Given the description of an element on the screen output the (x, y) to click on. 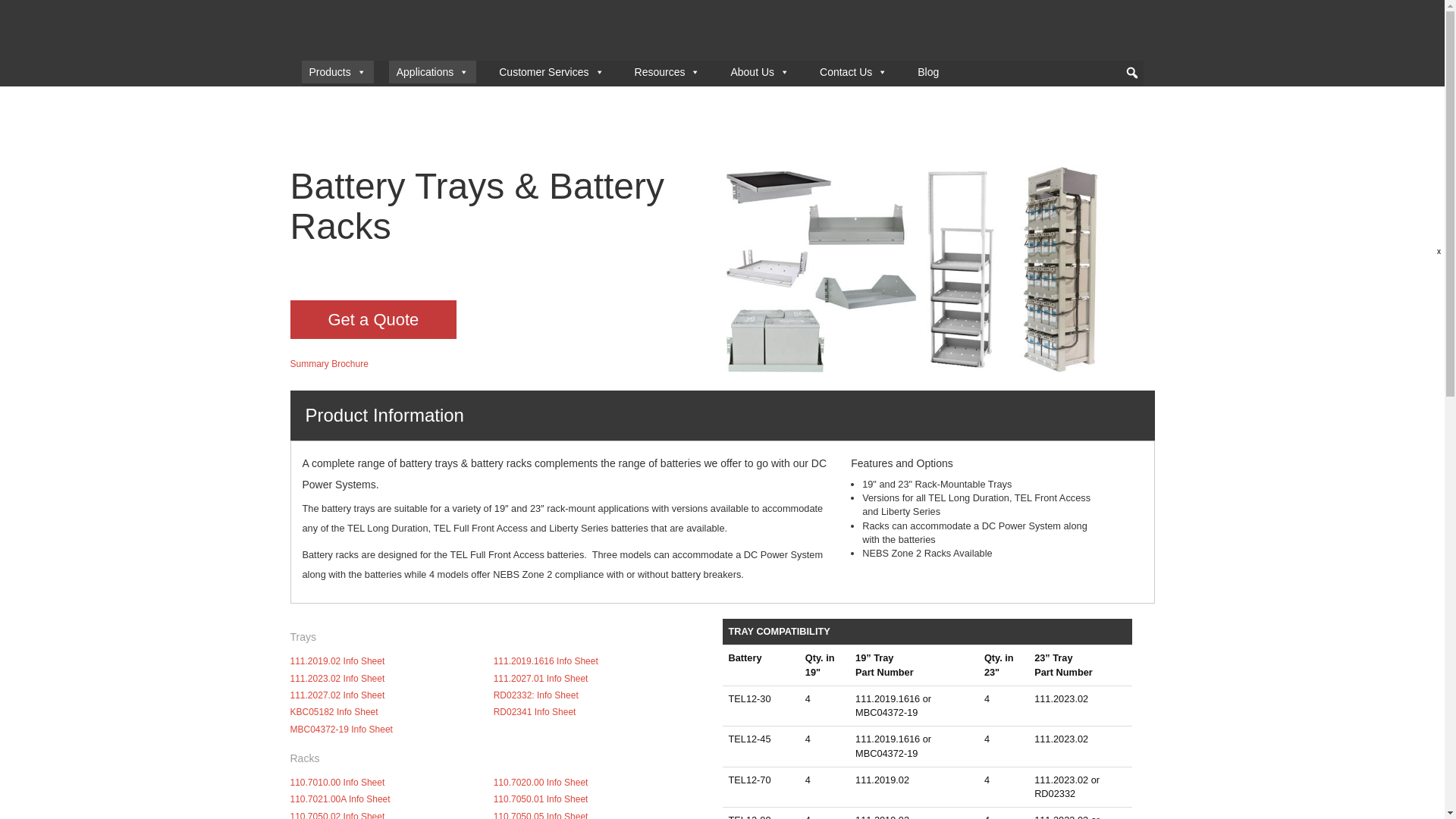
UNIPOWER LLC (386, 30)
Powering Technology (386, 30)
Products (337, 71)
